Given the description of an element on the screen output the (x, y) to click on. 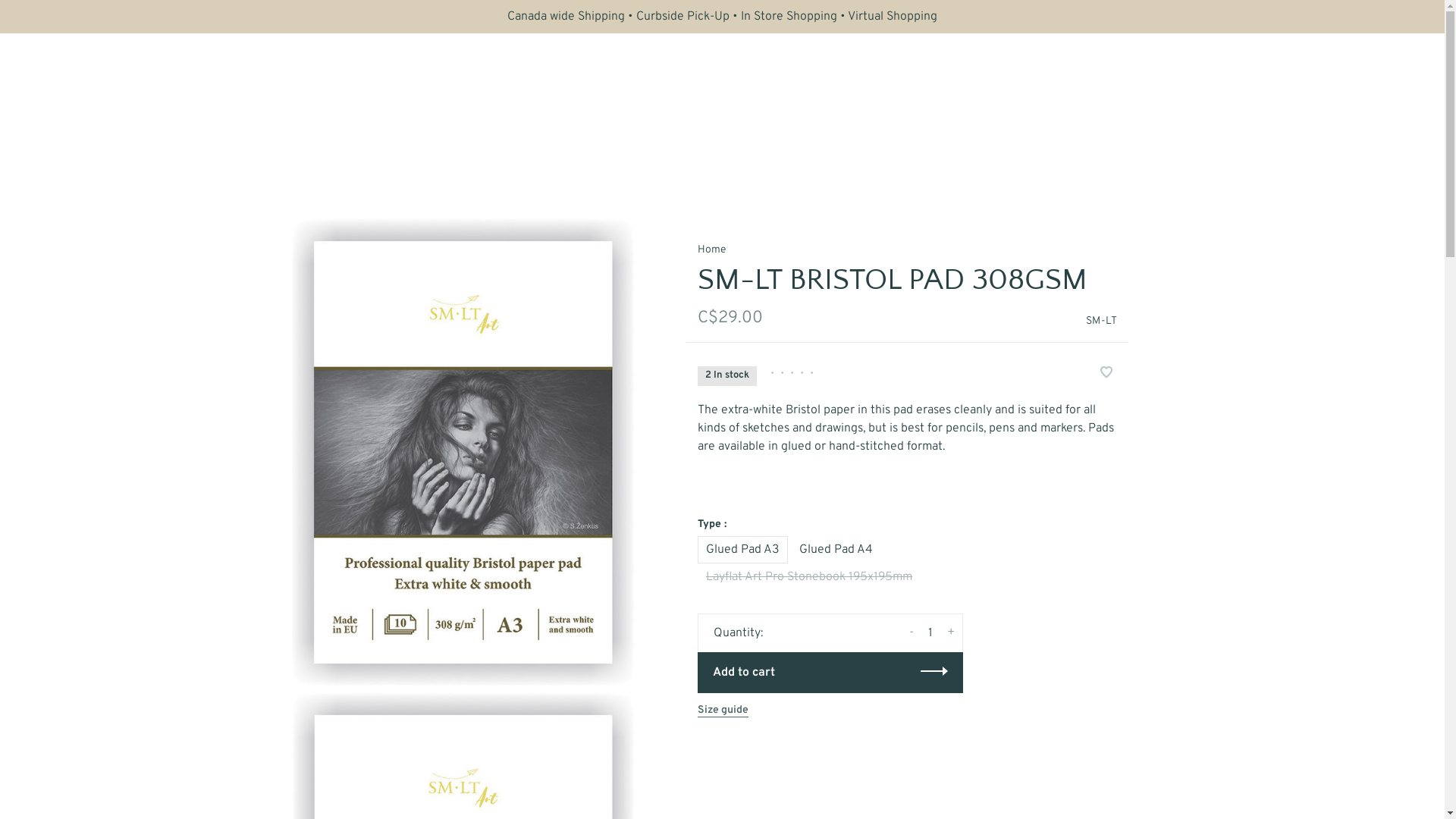
Glued Pad A4 Element type: text (835, 548)
Add to cart Element type: text (830, 672)
Subscribe Element type: text (38, 15)
Add to wishlist Element type: hover (1106, 374)
Home Element type: text (711, 249)
SM-LT Element type: text (1101, 320)
+ Element type: text (950, 632)
Glued Pad A3 Element type: text (742, 548)
Size guide Element type: text (722, 710)
- Element type: text (911, 632)
Layflat Art Pro Stonebook 195x195mm Element type: text (808, 575)
